Given the description of an element on the screen output the (x, y) to click on. 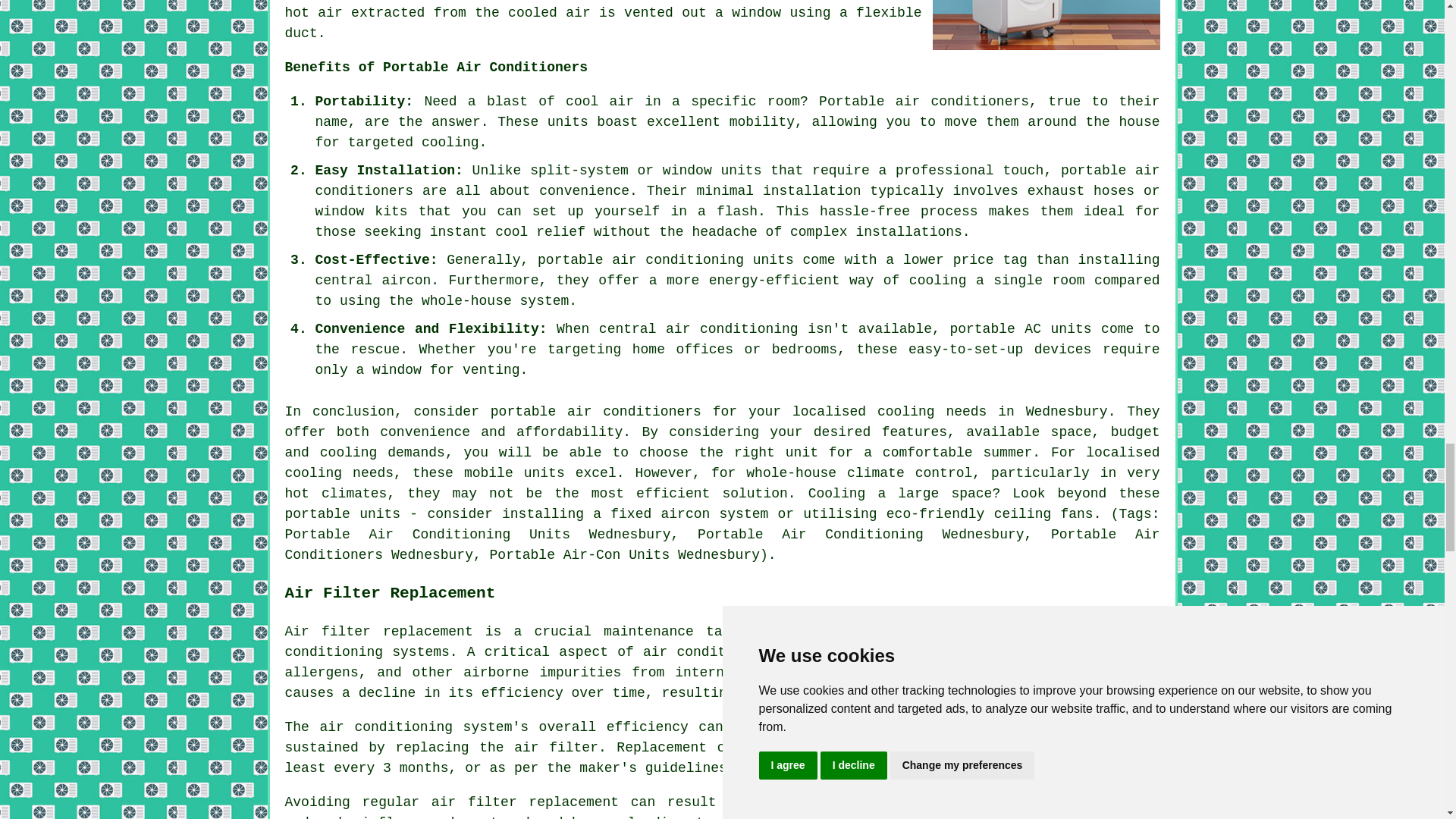
Portable Air Conditioning Wednesbury (1046, 24)
air conditioners (634, 411)
